Given the description of an element on the screen output the (x, y) to click on. 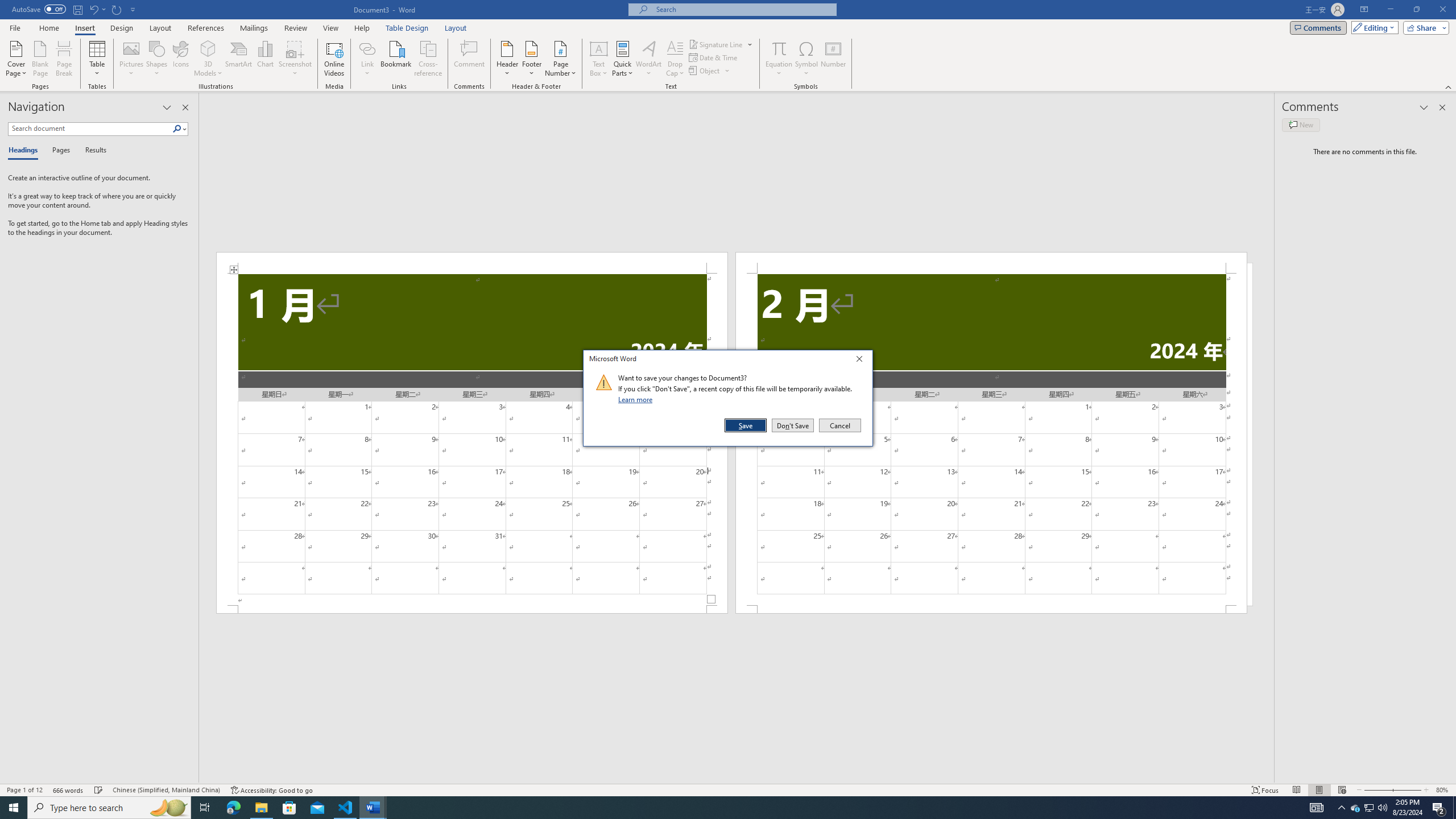
Start (13, 807)
Text Box (598, 58)
Cover Page (16, 58)
Object... (709, 69)
Number... (833, 58)
Screenshot (295, 58)
Microsoft Store (289, 807)
Blank Page (40, 58)
Symbol (806, 58)
Table Design (407, 28)
Mode (1372, 27)
Drop Cap (674, 58)
